Given the description of an element on the screen output the (x, y) to click on. 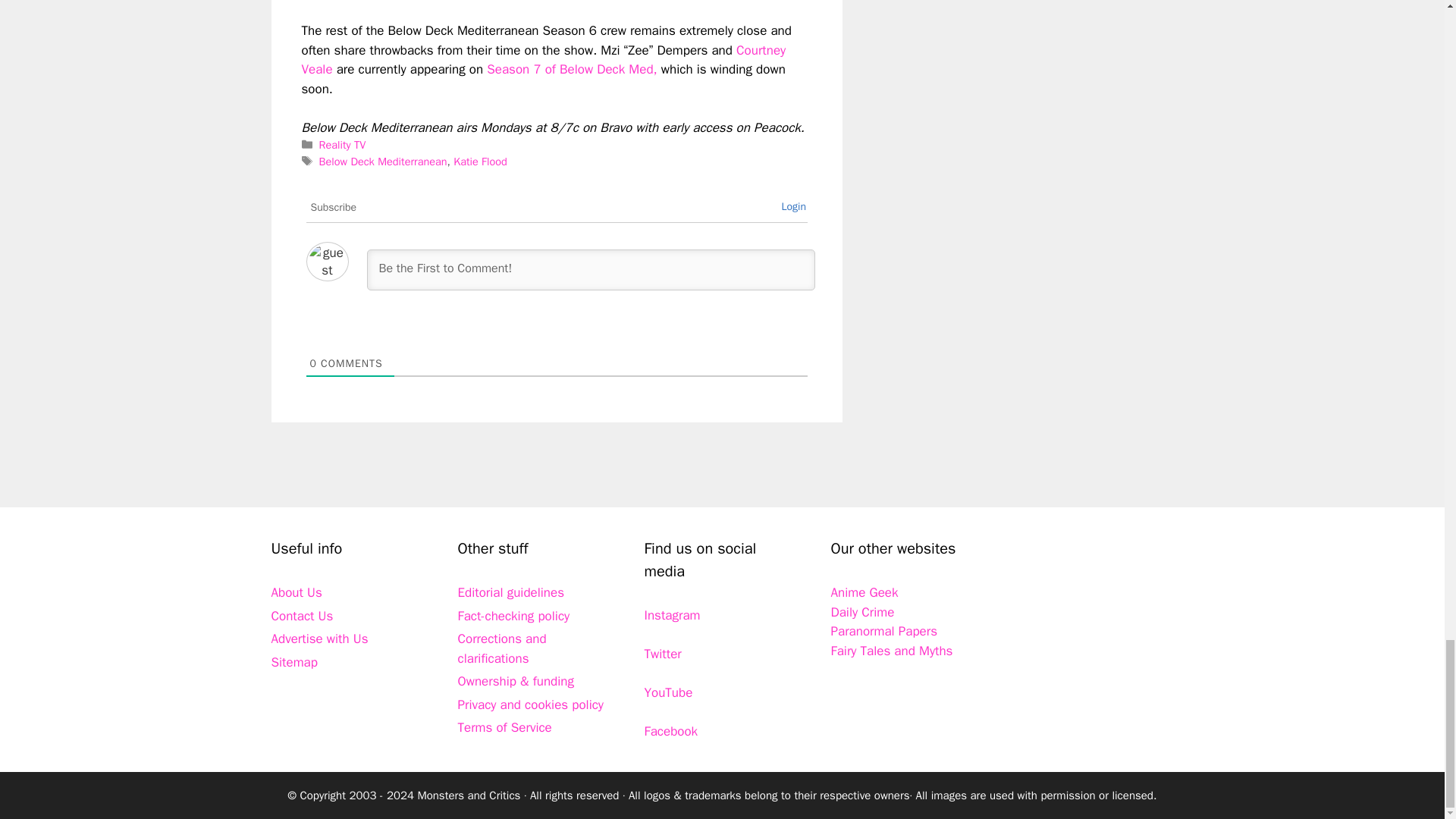
Login (793, 205)
Fact-checking policy (514, 616)
Contact Us (301, 616)
Courtney Veale (543, 59)
Katie Flood (479, 161)
Editorial guidelines (511, 592)
YouTube (669, 692)
Terms of Service (504, 727)
Below Deck Mediterranean (382, 161)
Advertise with Us (319, 638)
